Given the description of an element on the screen output the (x, y) to click on. 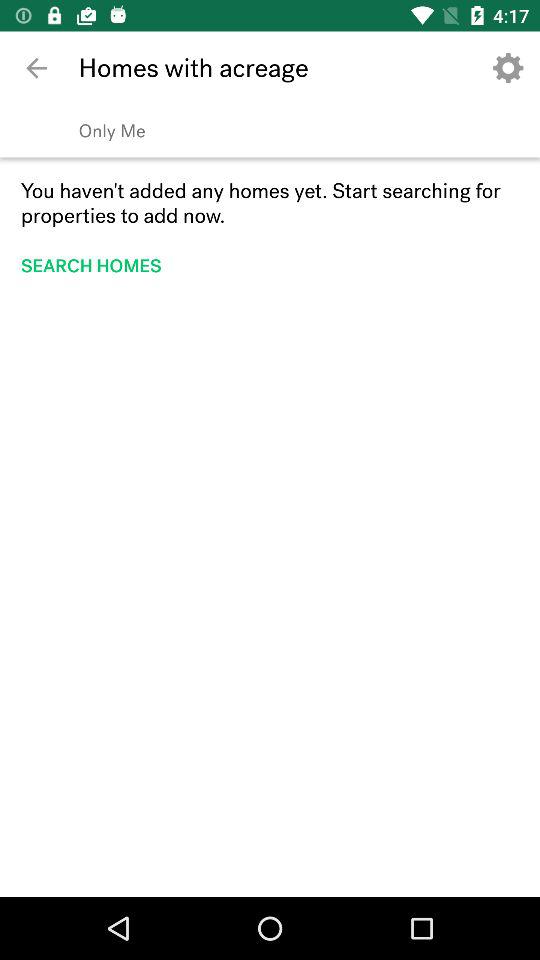
open search homes item (97, 265)
